Given the description of an element on the screen output the (x, y) to click on. 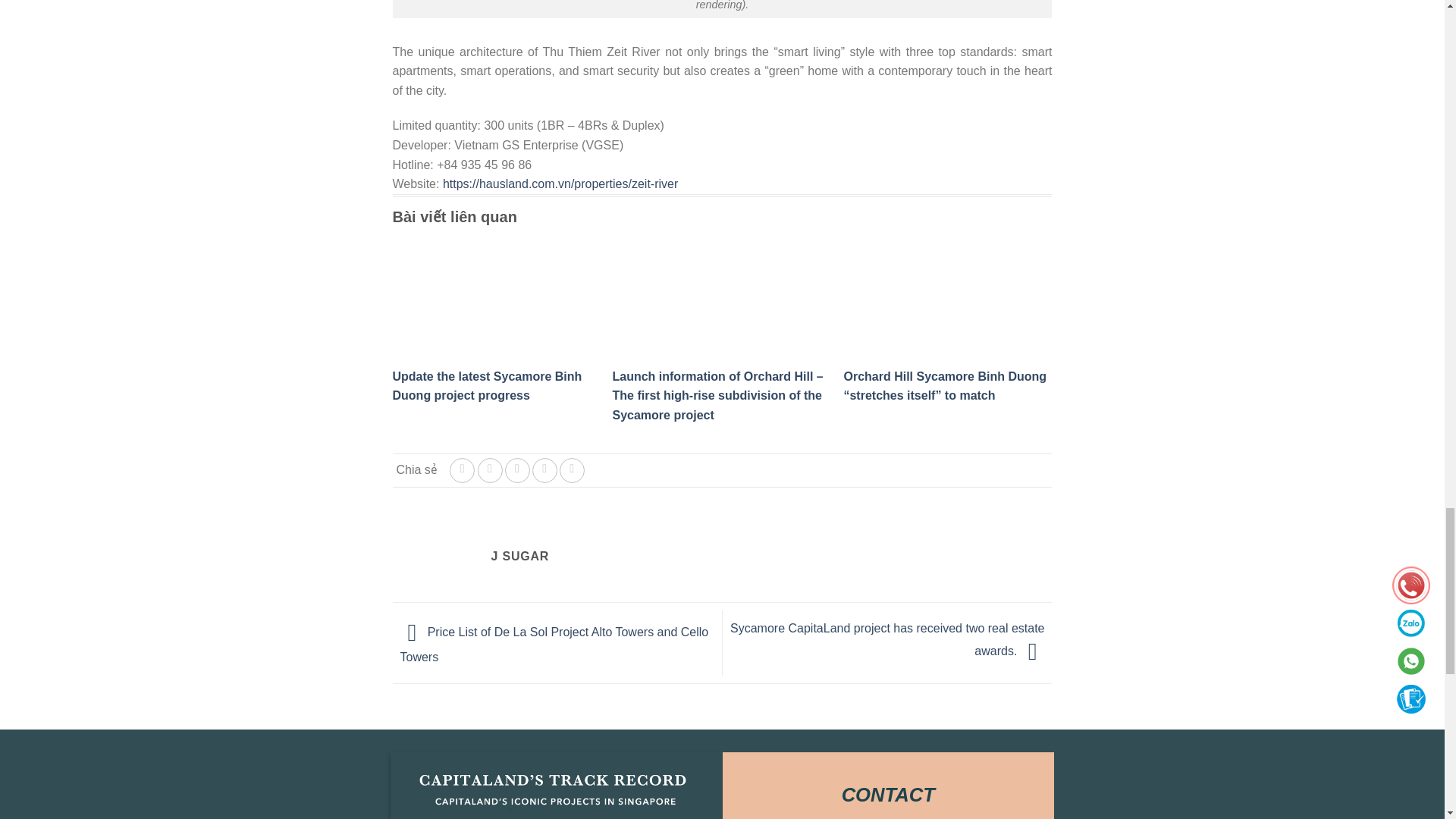
Pin on Pinterest (544, 470)
Share on Twitter (489, 470)
Update the latest Sycamore Binh Duong project progress (487, 386)
Share on LinkedIn (572, 470)
Email to a Friend (517, 470)
Share on Facebook (461, 470)
Price List of De La Sol Project Alto Towers and Cello Towers (554, 644)
